Given the description of an element on the screen output the (x, y) to click on. 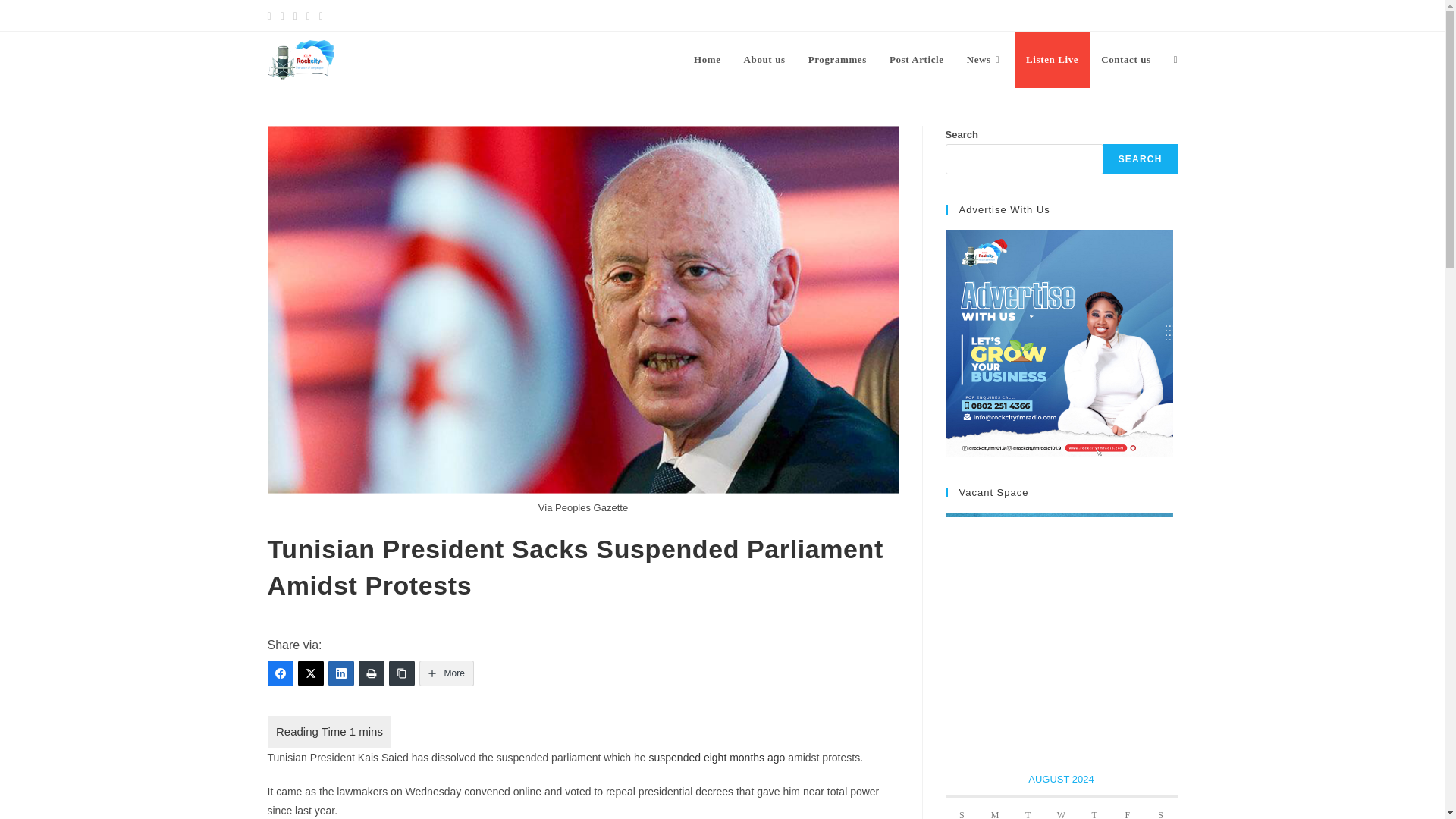
Advertise with us (1058, 343)
Monday (994, 808)
Tuesday (1028, 808)
MPO Portal (1101, 15)
Saturday (1160, 808)
Wednesday (1061, 808)
Programmes (836, 59)
Webmail (1157, 15)
Home (707, 59)
News (984, 59)
